Given the description of an element on the screen output the (x, y) to click on. 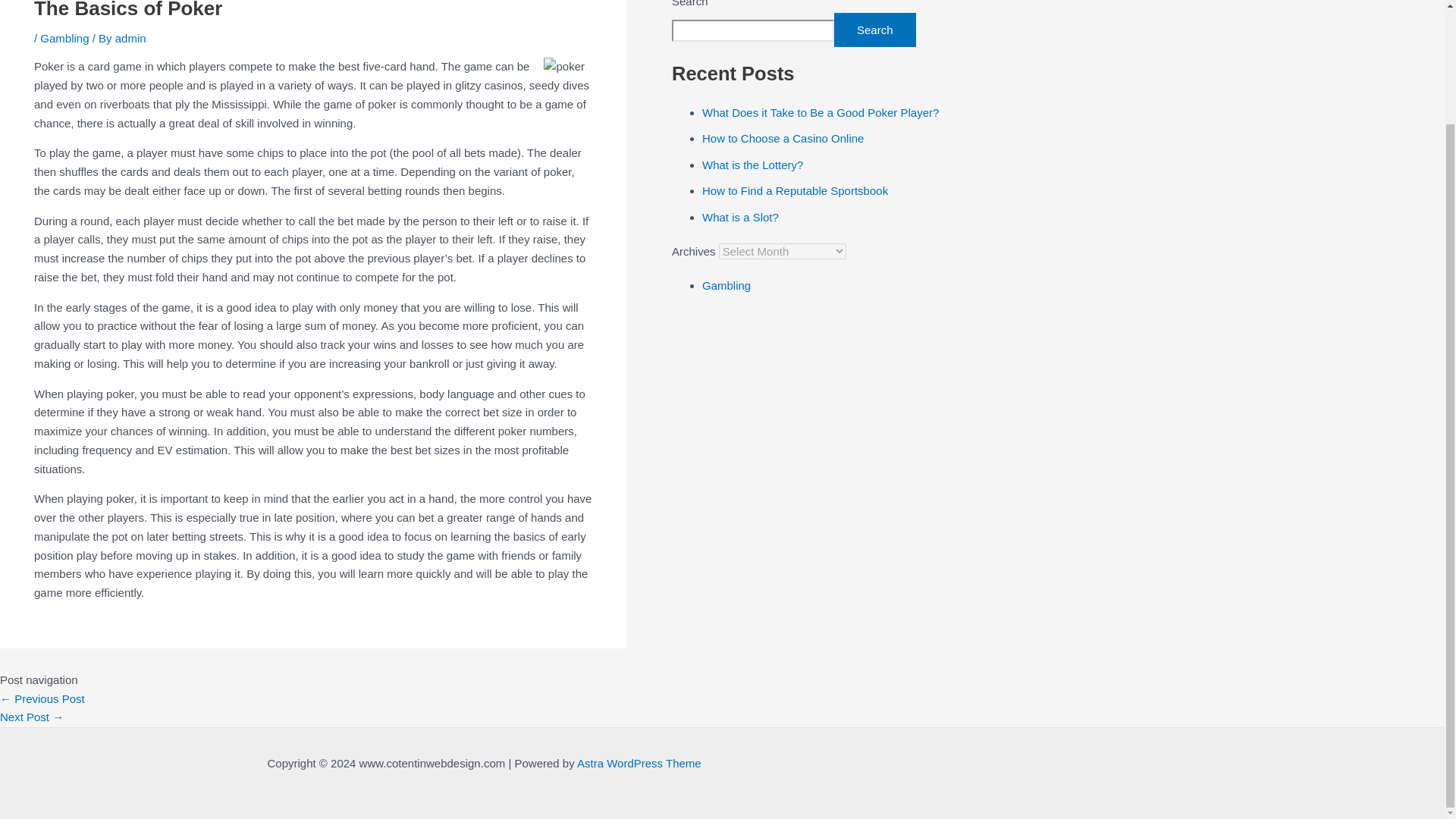
How to Find a Reputable Sportsbook (794, 190)
View all posts by admin (131, 38)
How to Choose a Casino Online (782, 137)
What is a Slot? (739, 216)
What Is a Pay Table in a Slot? (32, 716)
Search (874, 29)
Astra WordPress Theme (638, 762)
How to Choose a Casino Online (42, 698)
admin (131, 38)
What Does it Take to Be a Good Poker Player? (820, 112)
Gambling (64, 38)
Gambling (726, 285)
What is the Lottery? (752, 164)
